Given the description of an element on the screen output the (x, y) to click on. 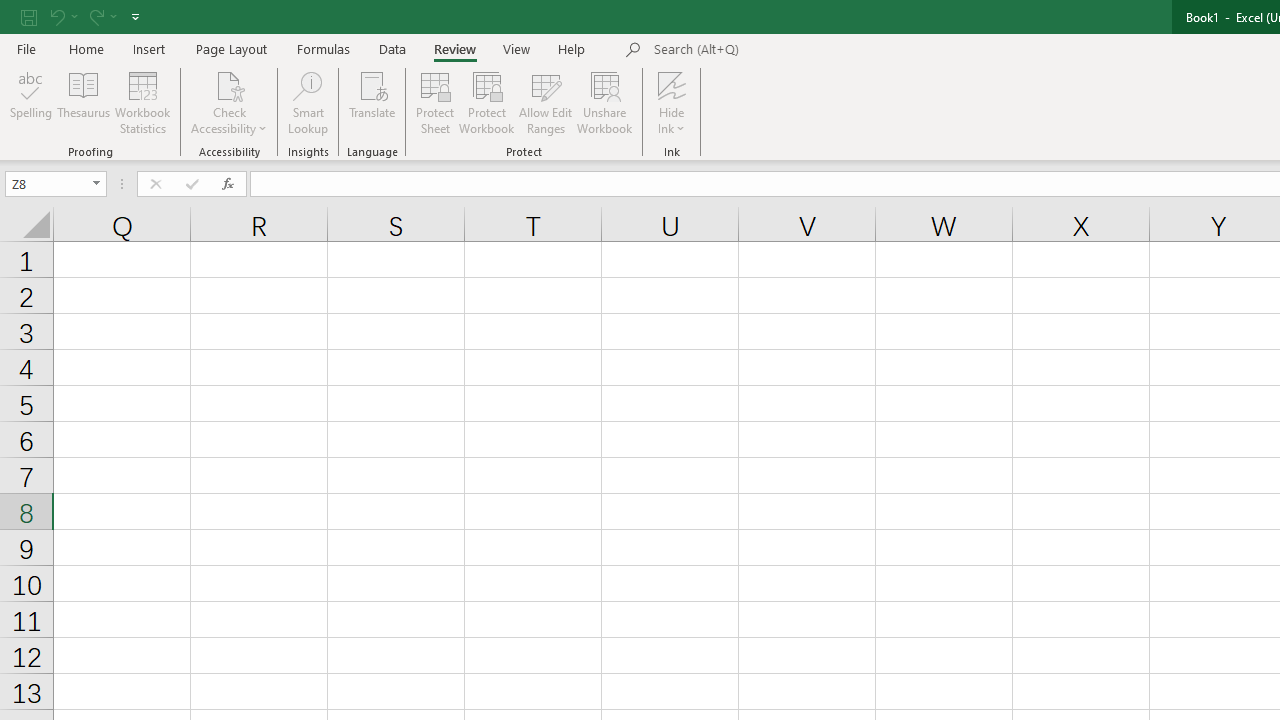
Thesaurus... (83, 102)
Spelling... (31, 102)
Check Accessibility (229, 102)
Protect Workbook... (486, 102)
